Given the description of an element on the screen output the (x, y) to click on. 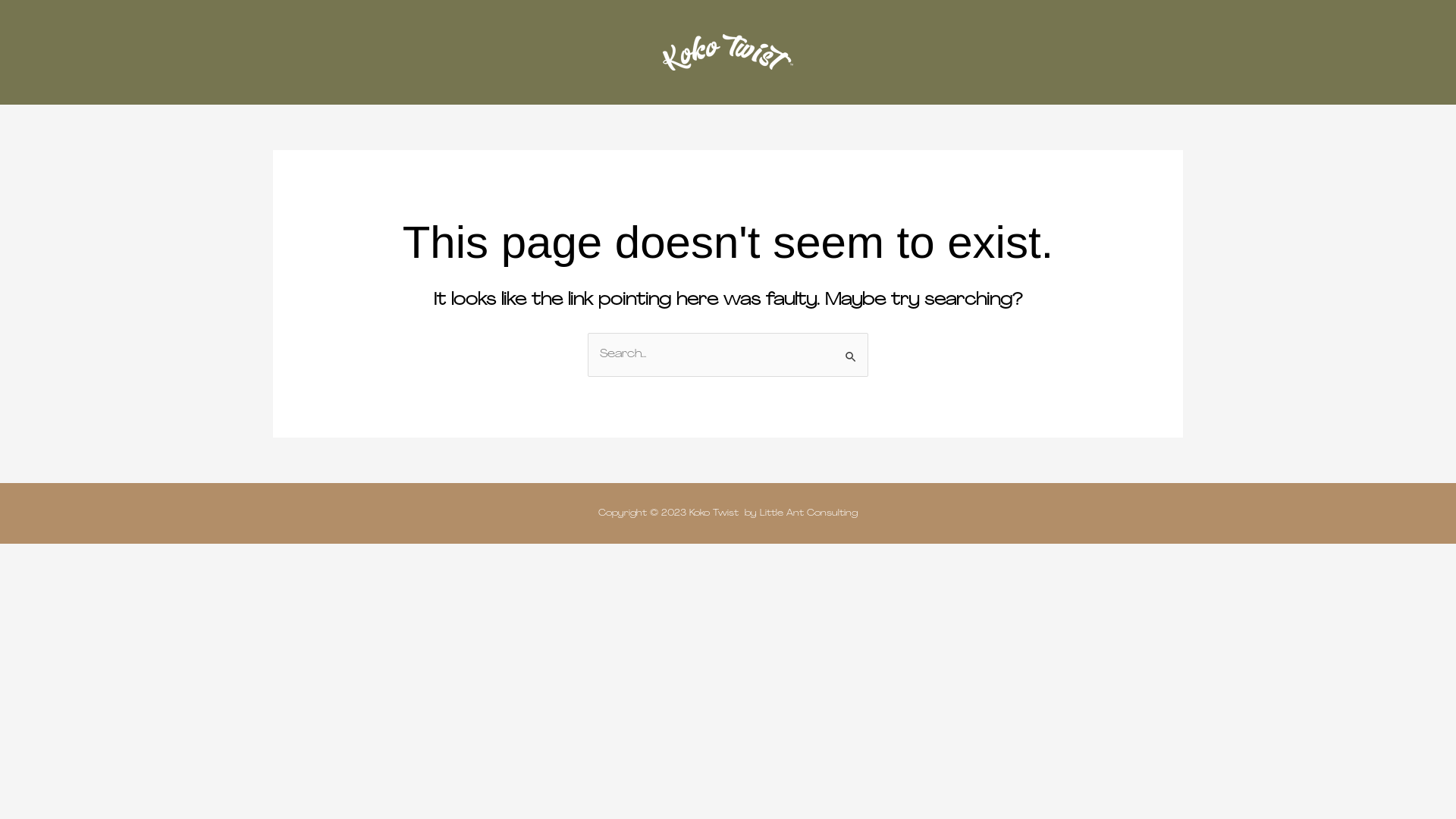
Search Element type: text (851, 348)
by Little Ant Consulting Element type: text (800, 512)
